Given the description of an element on the screen output the (x, y) to click on. 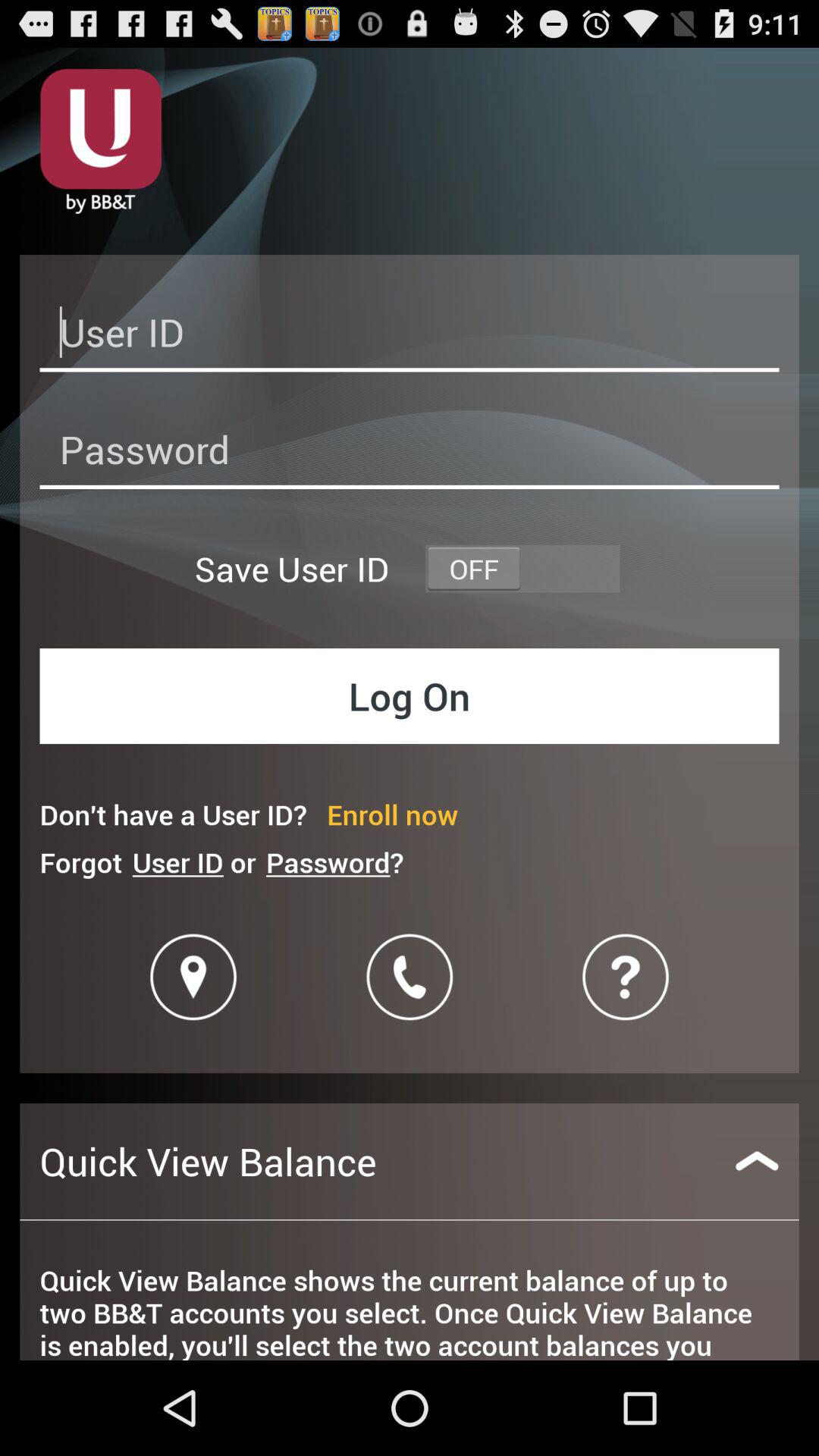
select  or help button on page (625, 977)
select log on button on the page (409, 695)
select the text box which says user id (409, 336)
select the calling symbol which is after the location symbol (409, 977)
click on the text enroll now (392, 813)
